Given the description of an element on the screen output the (x, y) to click on. 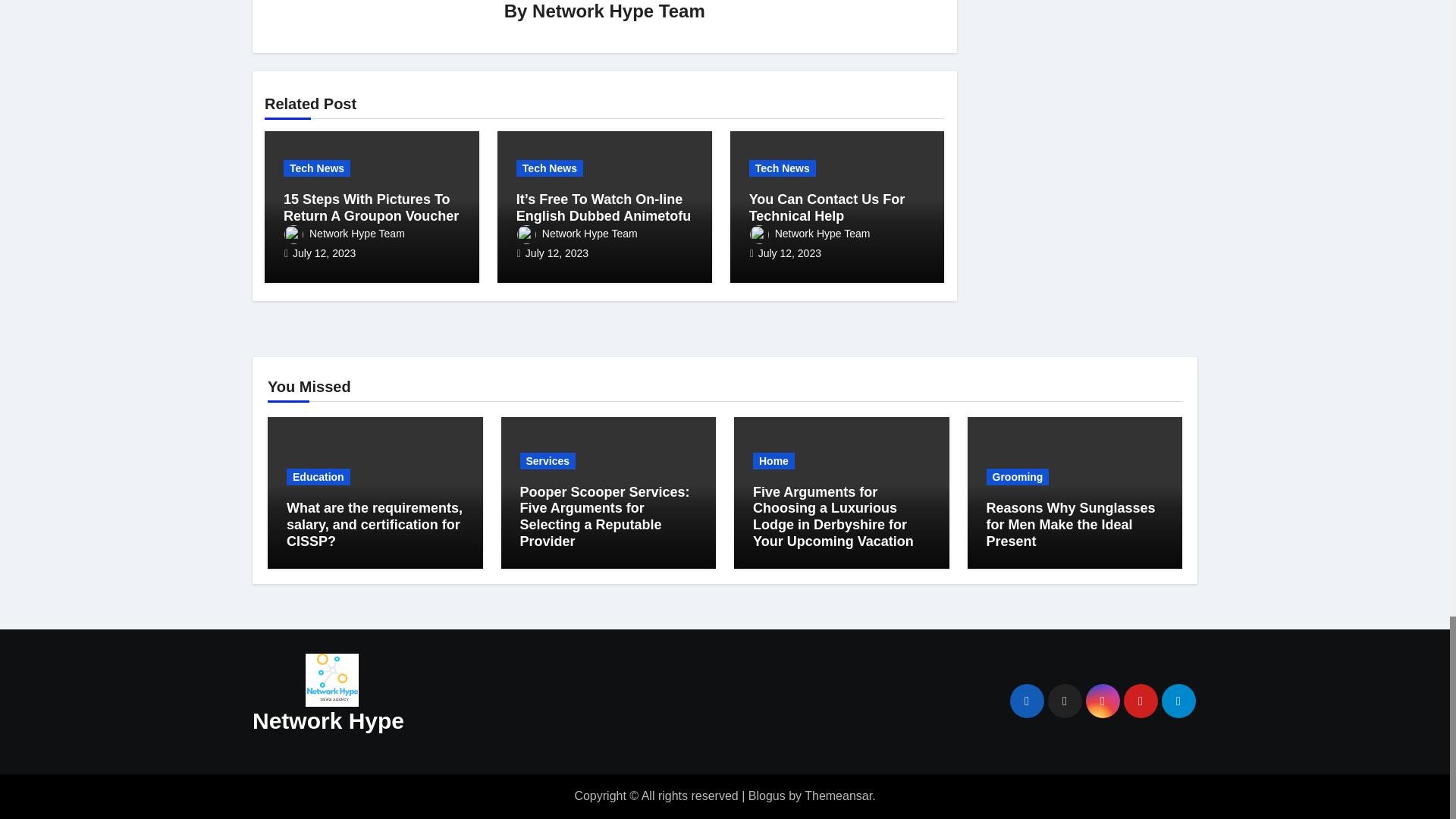
Permalink to: You Can Contact Us For Technical Help (827, 207)
